Given the description of an element on the screen output the (x, y) to click on. 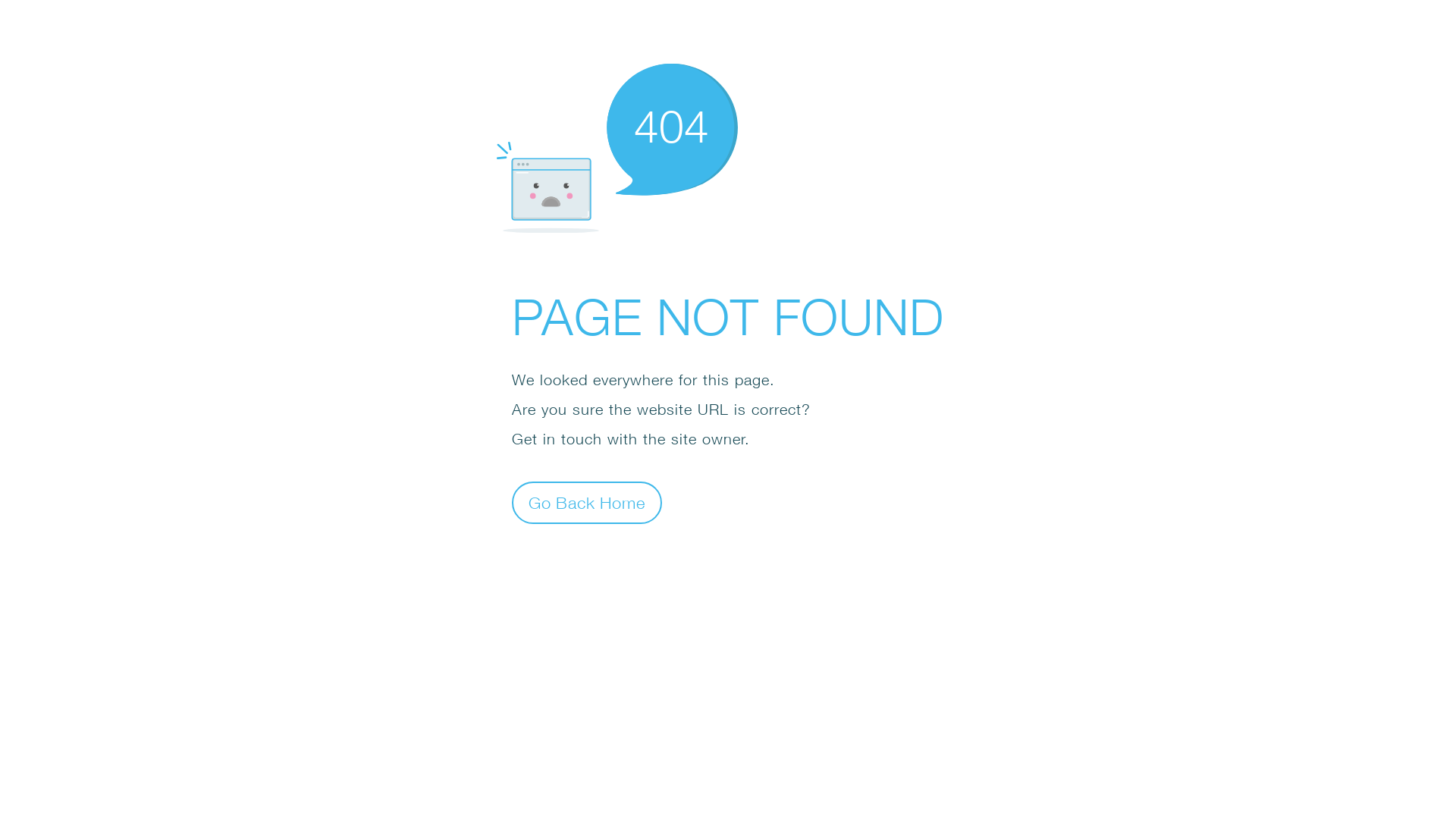
Go Back Home Element type: text (586, 502)
